Given the description of an element on the screen output the (x, y) to click on. 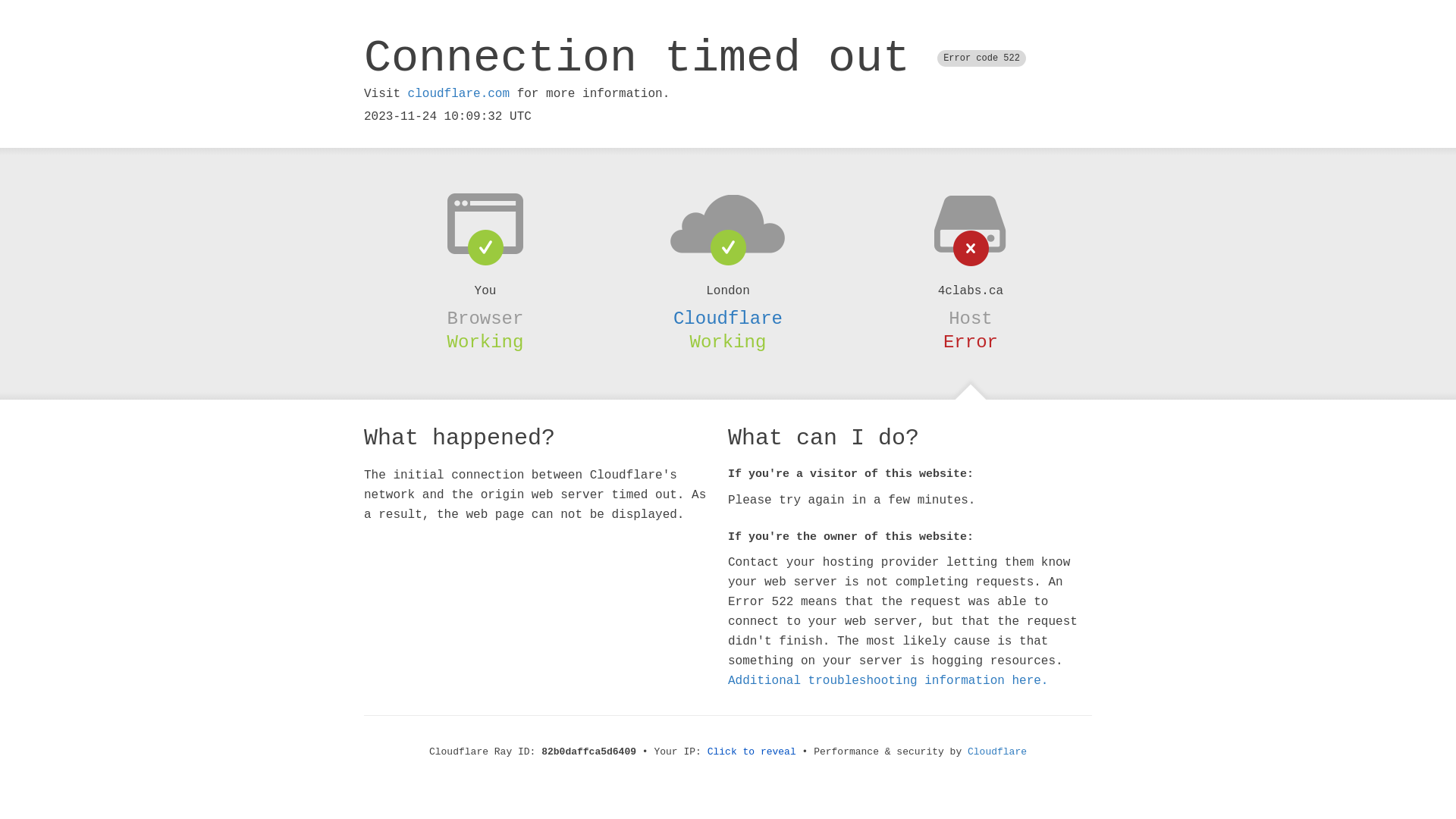
Additional troubleshooting information here. Element type: text (888, 680)
Click to reveal Element type: text (751, 751)
cloudflare.com Element type: text (458, 93)
Cloudflare Element type: text (996, 751)
Cloudflare Element type: text (727, 318)
